Given the description of an element on the screen output the (x, y) to click on. 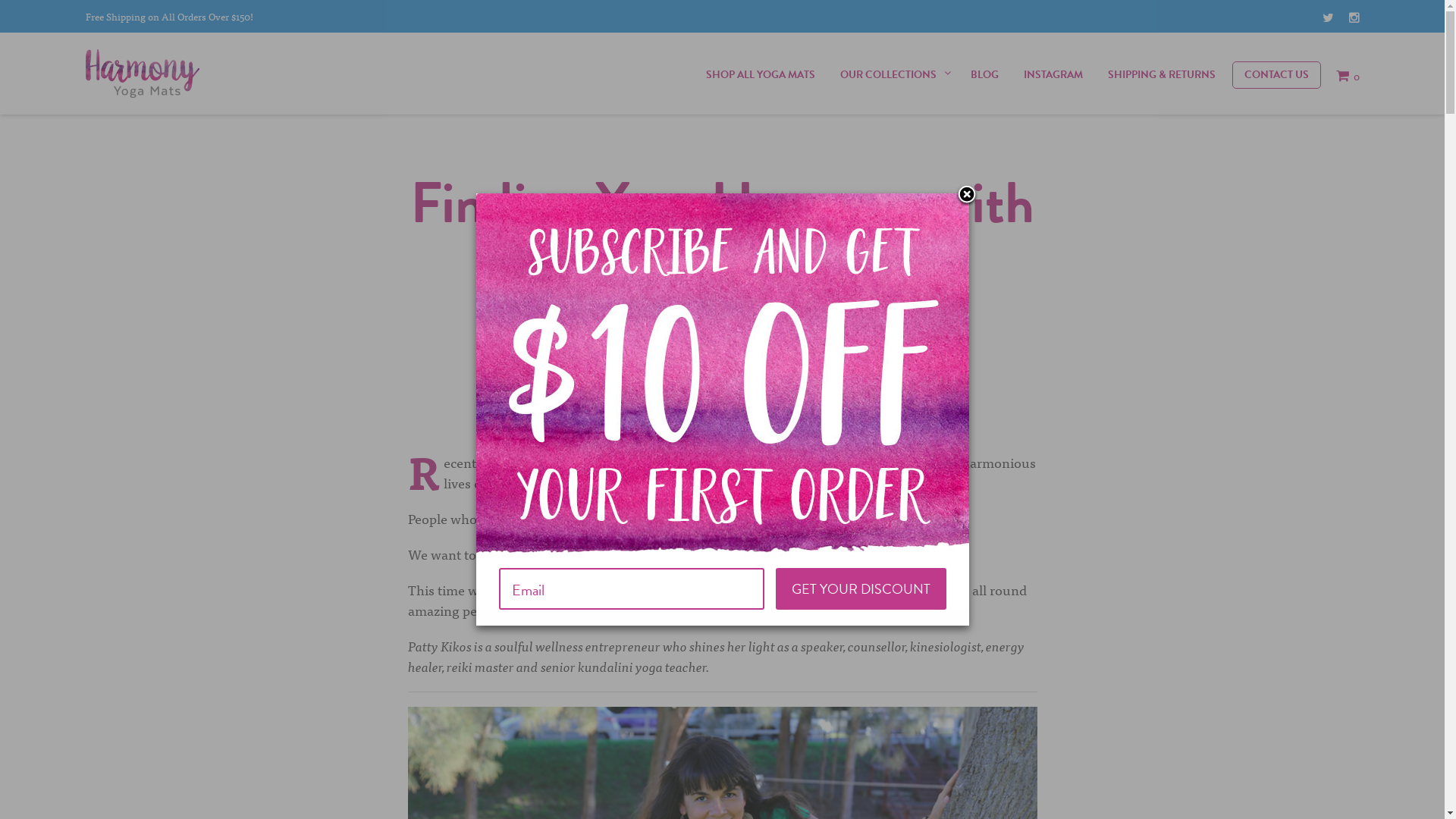
HARMONY YOGA MATS Element type: text (600, 375)
OUR COLLECTIONS Element type: text (887, 74)
AUGUST 23, 2016 Element type: text (723, 375)
BLOG Element type: text (983, 74)
INSTAGRAM Element type: text (1052, 74)
SHIPPING & RETURNS Element type: text (1161, 74)
FINDING YOUR HARMONY Element type: text (851, 375)
Get Your Discount Element type: text (860, 588)
0 Element type: text (1347, 74)
SHOP ALL YOGA MATS Element type: text (760, 74)
Close Element type: hover (966, 195)
Search Element type: text (1417, 659)
CONTACT US Element type: text (1275, 74)
